Given the description of an element on the screen output the (x, y) to click on. 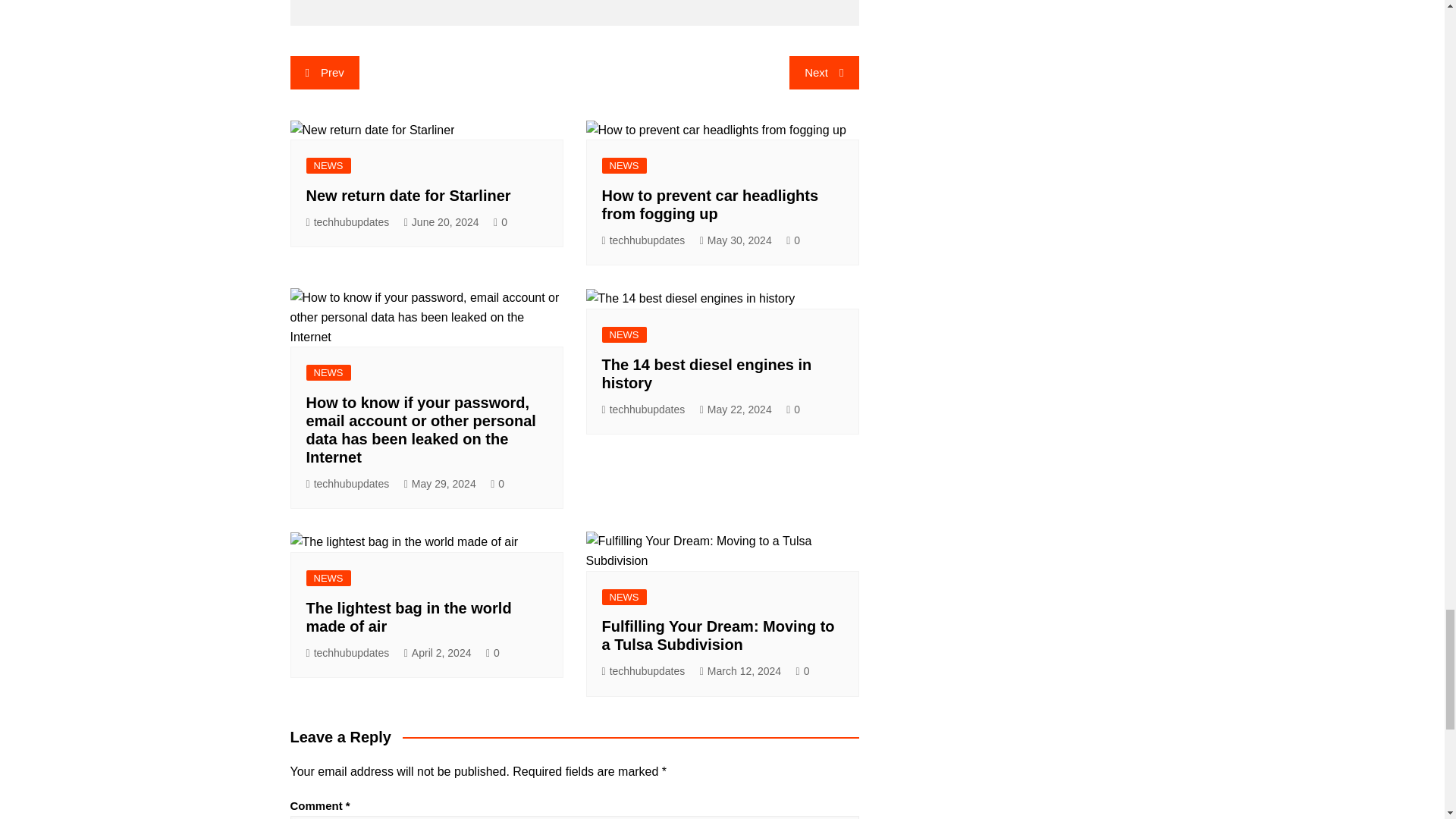
techhubupdates (643, 240)
June 20, 2024 (441, 221)
May 30, 2024 (735, 240)
May 29, 2024 (440, 484)
New return date for Starliner (408, 195)
techhubupdates (347, 221)
NEWS (327, 372)
Next (824, 72)
techhubupdates (347, 484)
How to prevent car headlights from fogging up (710, 204)
NEWS (624, 165)
Prev (323, 72)
NEWS (327, 165)
